Given the description of an element on the screen output the (x, y) to click on. 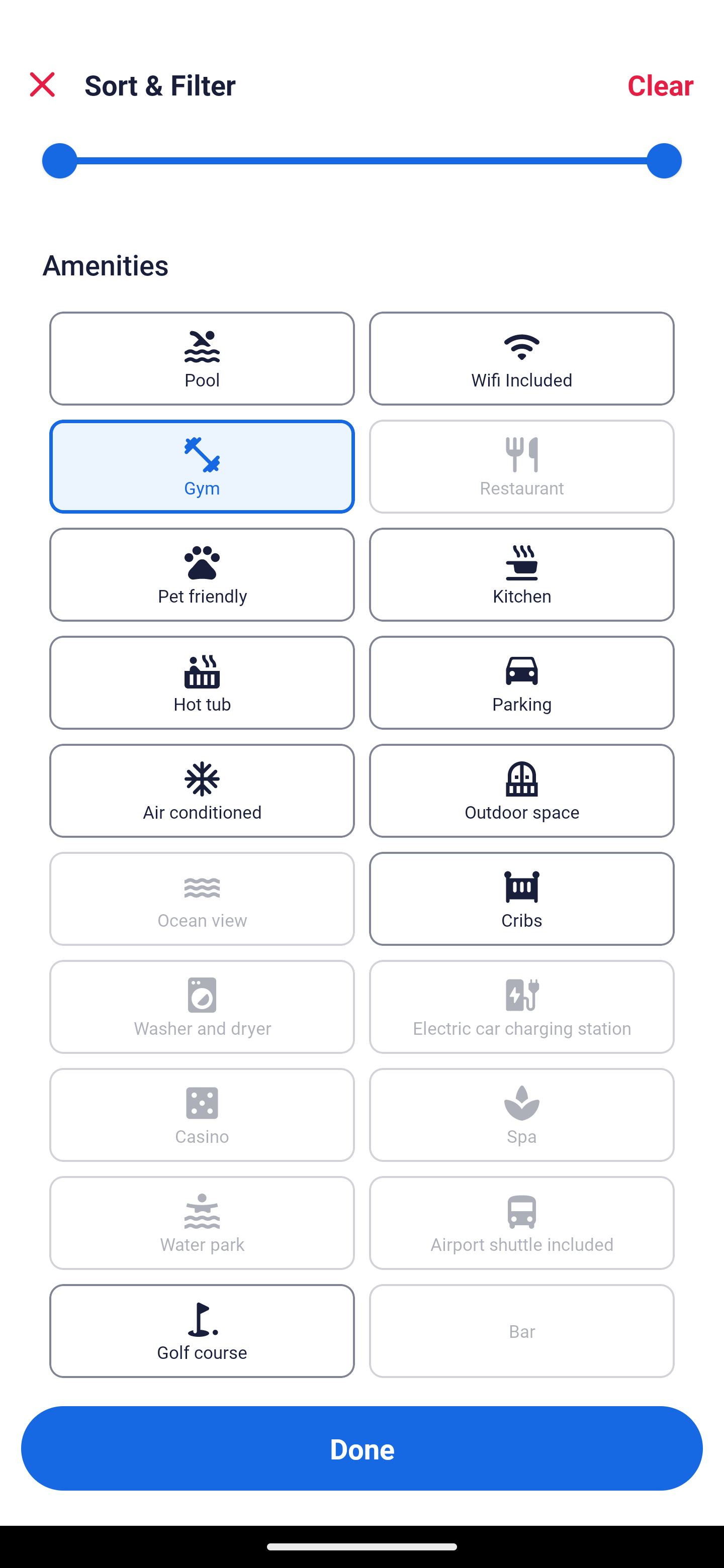
Close Sort and Filter (42, 84)
Clear (660, 84)
Pool (201, 359)
Wifi Included (521, 359)
Gym (201, 467)
Restaurant (521, 467)
Pet friendly (201, 574)
Kitchen (521, 574)
Hot tub (201, 682)
Parking (521, 682)
Air conditioned (201, 790)
Outdoor space (521, 790)
Ocean view (201, 898)
Cribs (521, 898)
Washer and dryer (201, 1006)
Electric car charging station (521, 1006)
Casino (201, 1114)
Spa (521, 1114)
Water park (201, 1223)
Airport shuttle included (521, 1223)
Golf course (201, 1331)
Bar (521, 1331)
Apply and close Sort and Filter Done (361, 1448)
